Given the description of an element on the screen output the (x, y) to click on. 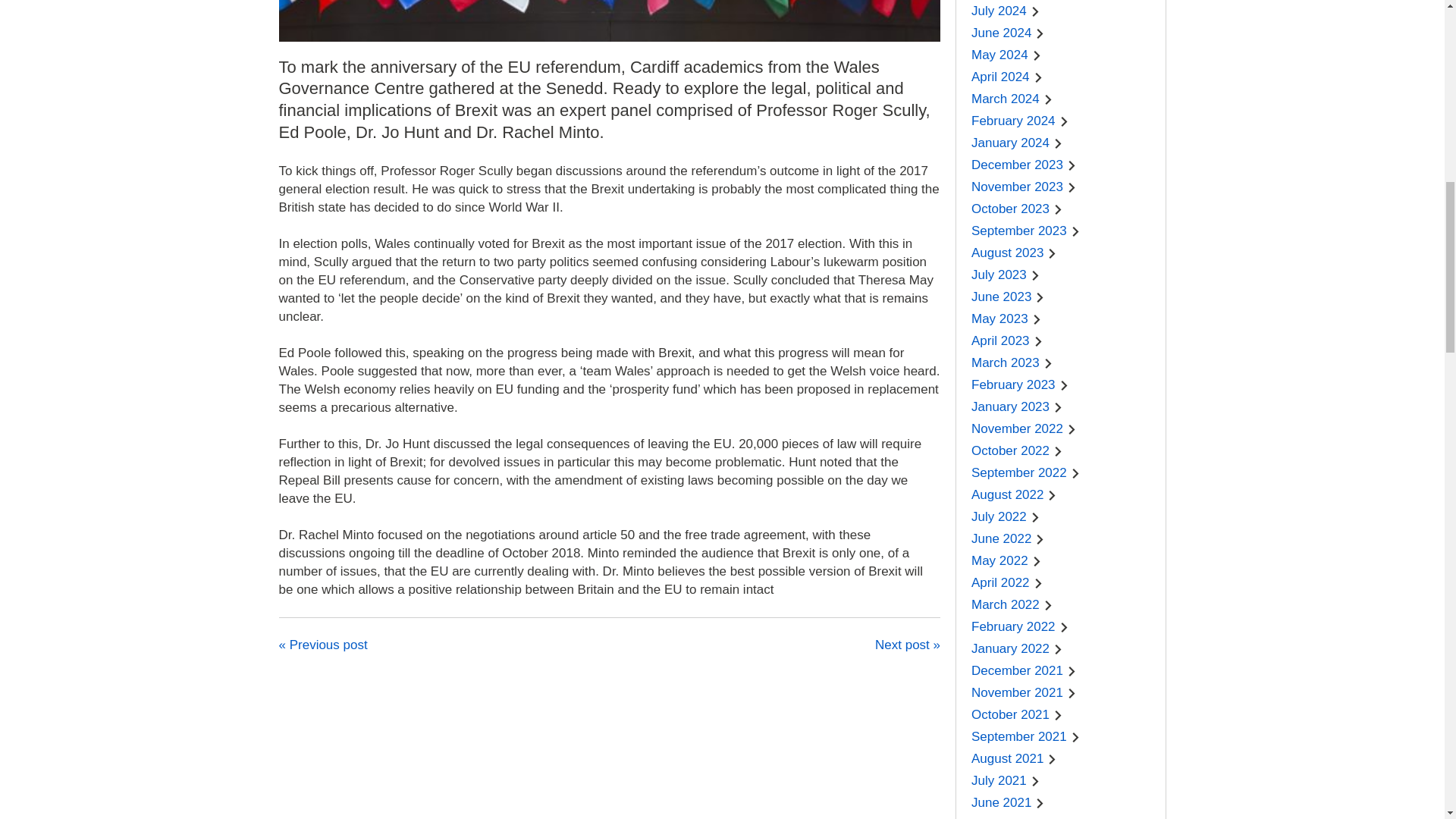
Chevron right (1038, 77)
Chevron right (1035, 11)
Chevron right (1040, 33)
Chevron right (1037, 55)
